Given the description of an element on the screen output the (x, y) to click on. 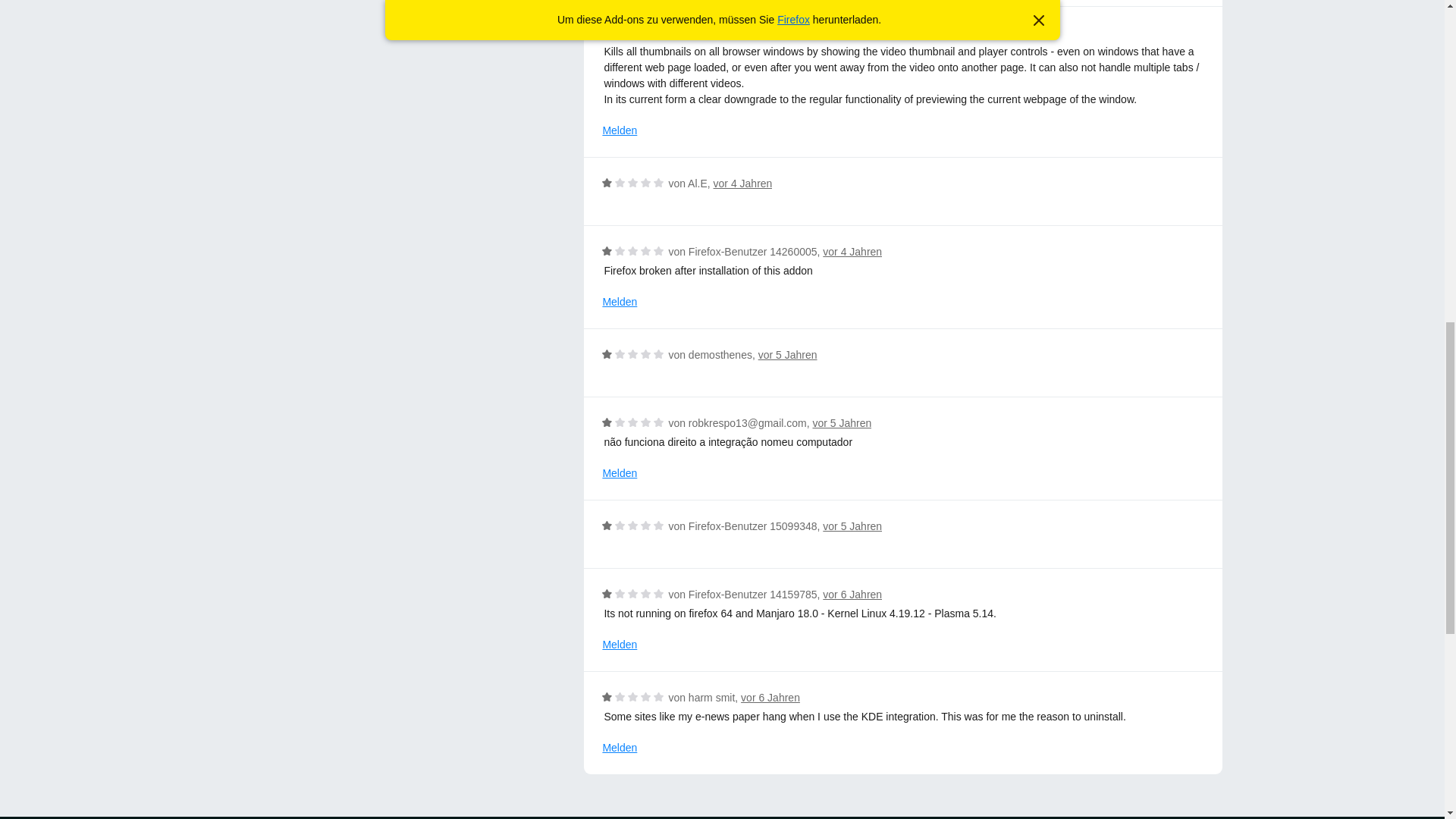
vor 5 Jahren (841, 422)
Melden (619, 473)
vor 4 Jahren (792, 32)
vor 6 Jahren (852, 594)
vor 4 Jahren (743, 183)
Melden (619, 302)
vor 5 Jahren (787, 354)
Melden (619, 130)
vor 5 Jahren (852, 526)
vor 4 Jahren (852, 251)
